Given the description of an element on the screen output the (x, y) to click on. 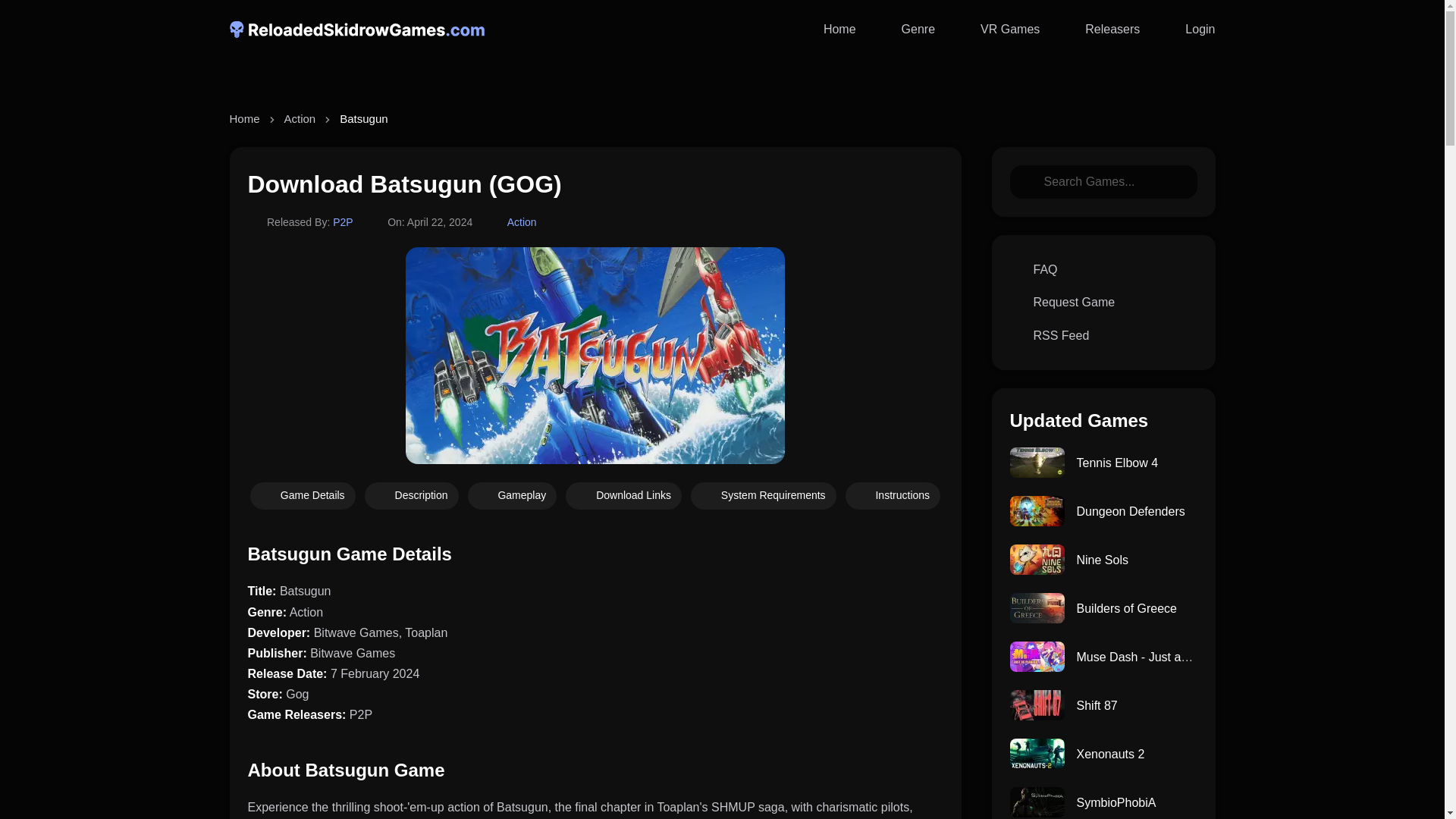
Releasers (1101, 29)
VR Games (999, 29)
Genre (907, 29)
Login (1189, 29)
VR Games (999, 29)
Home (828, 29)
Reloaded Skidrow Games (828, 29)
